Given the description of an element on the screen output the (x, y) to click on. 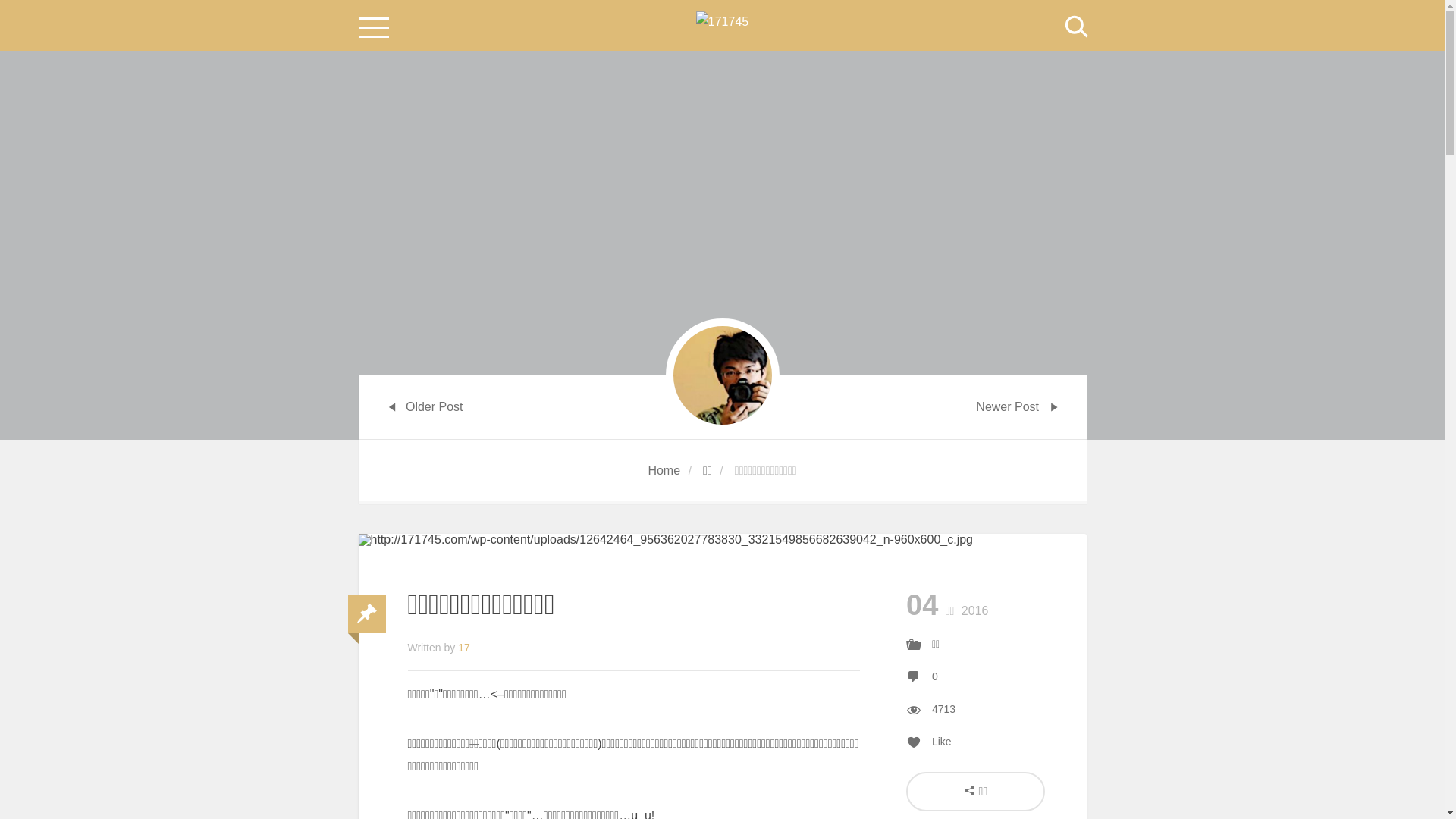
4713 Element type: text (943, 708)
Older Post Element type: text (421, 406)
0 Element type: text (934, 676)
Home Element type: text (663, 470)
Like Element type: text (928, 741)
Newer Post Element type: text (1019, 406)
17 Element type: text (464, 647)
